Given the description of an element on the screen output the (x, y) to click on. 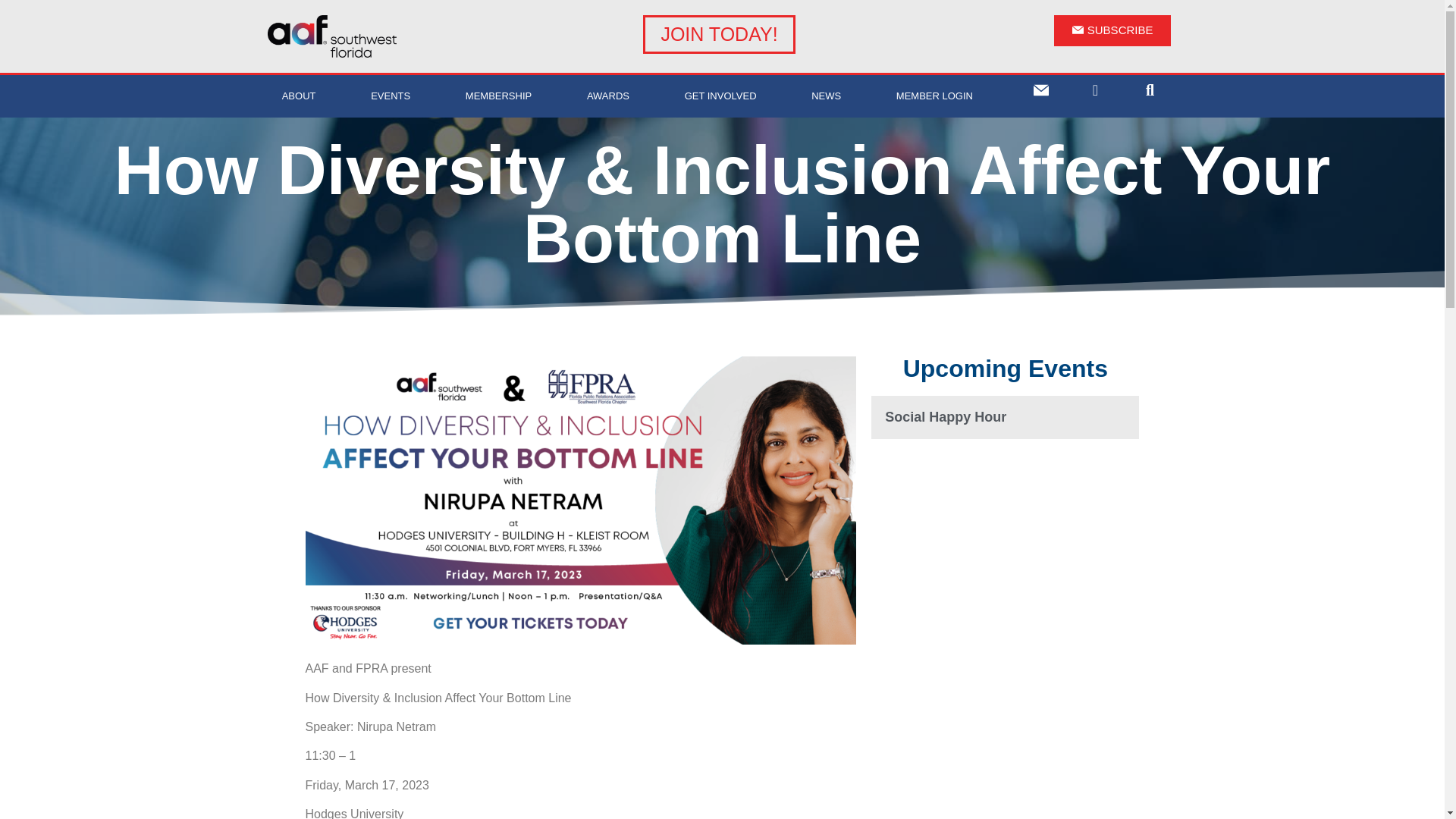
AWARDS (607, 96)
GET INVOLVED (719, 96)
NEWS (826, 96)
MEMBERSHIP (499, 96)
EVENTS (390, 96)
SUBSCRIBE (1113, 30)
MEMBER LOGIN (935, 96)
ABOUT (298, 96)
JOIN TODAY! (718, 34)
